Given the description of an element on the screen output the (x, y) to click on. 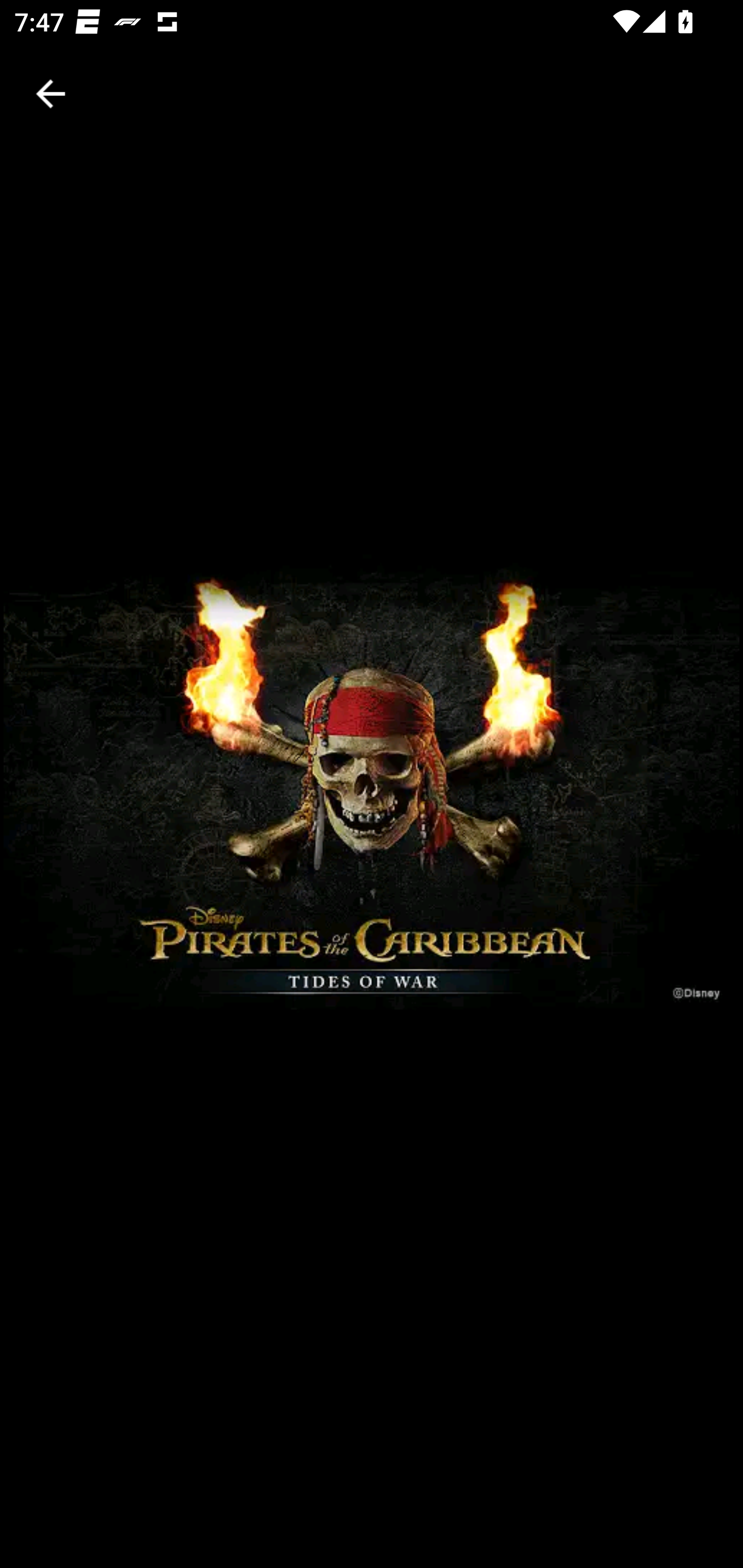
Back (50, 93)
